Given the description of an element on the screen output the (x, y) to click on. 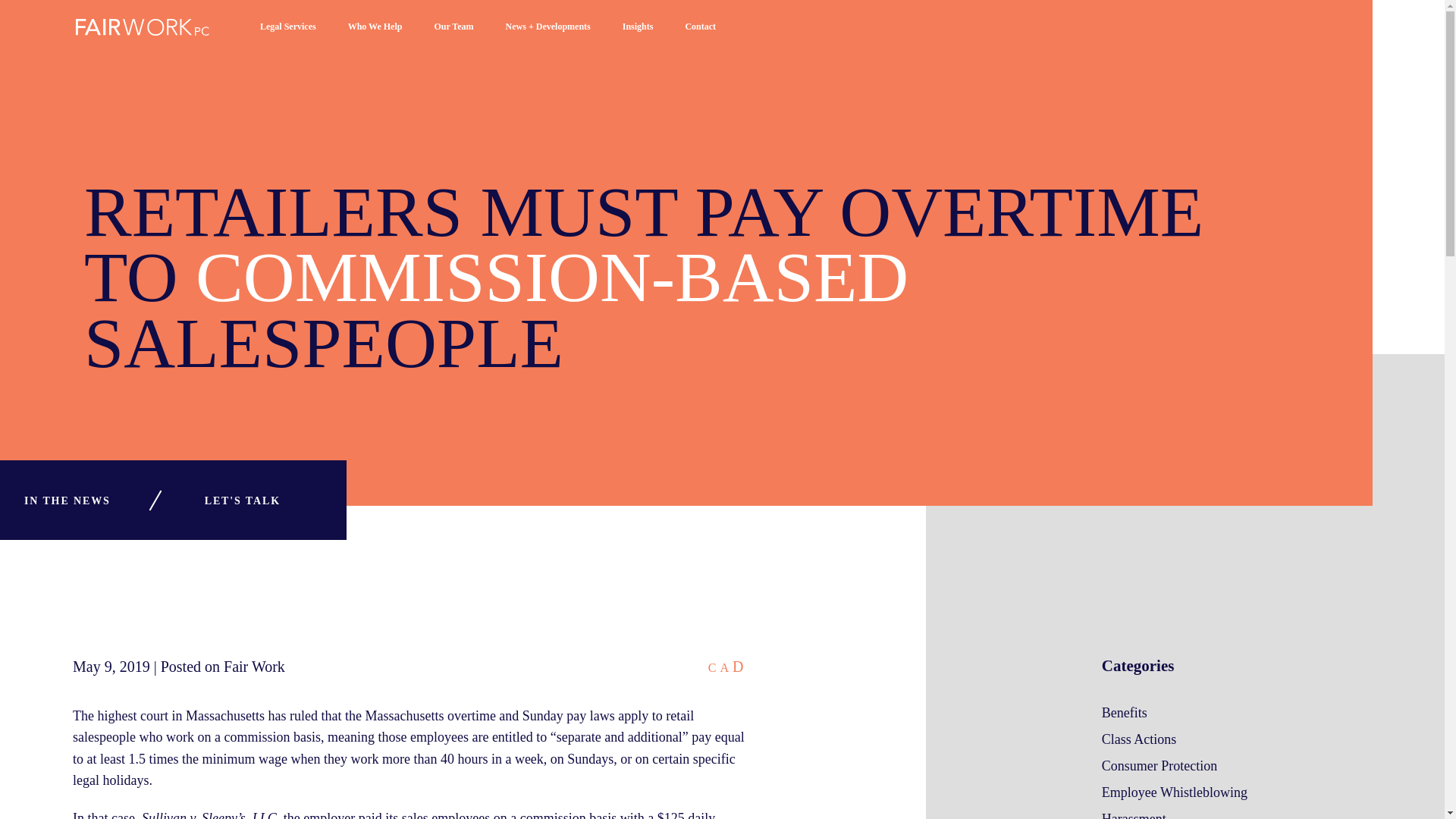
Who We Help (375, 37)
Legal Services (287, 37)
Benefits (1124, 712)
LET'S TALK (243, 500)
Employee Whistleblowing (1174, 792)
Insights (638, 37)
Class Actions (1139, 739)
IN THE NEWS (67, 500)
Consumer Protection (1159, 765)
Contact (700, 37)
Our Team (453, 37)
